Given the description of an element on the screen output the (x, y) to click on. 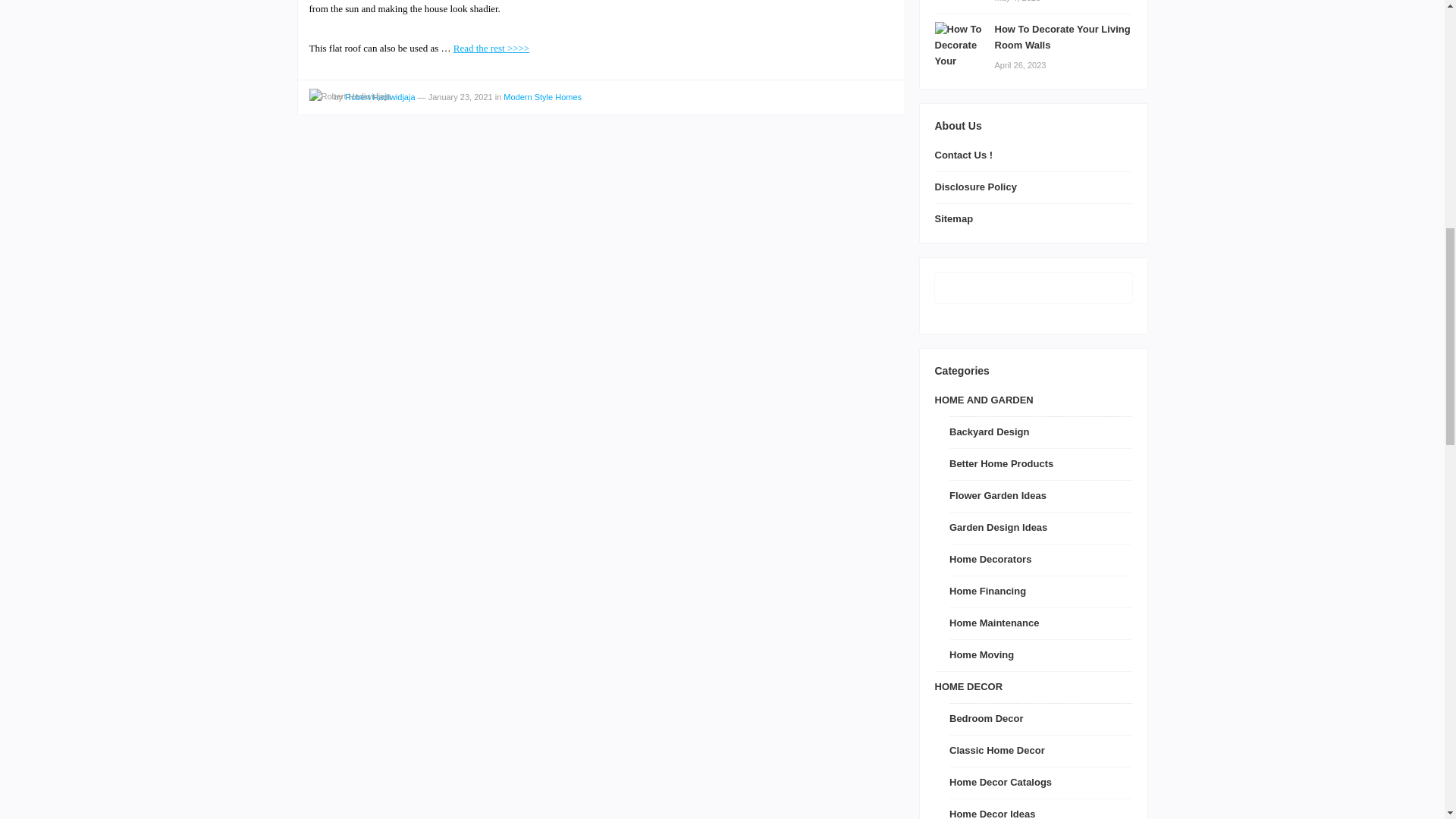
View all posts by Robert Hadiwidjaja (349, 96)
